Given the description of an element on the screen output the (x, y) to click on. 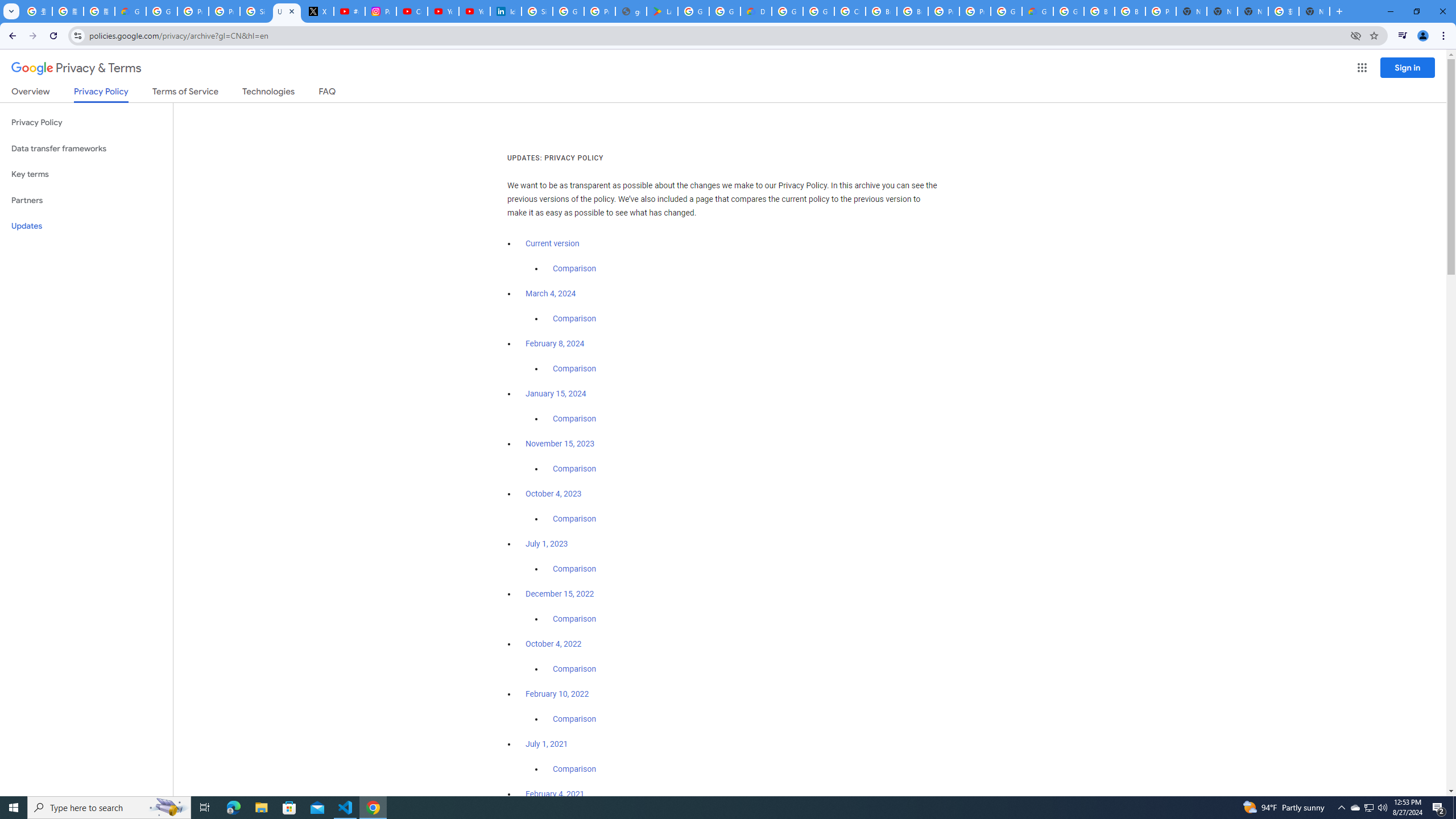
#nbabasketballhighlights - YouTube (349, 11)
Current version (552, 243)
Last Shelter: Survival - Apps on Google Play (662, 11)
February 8, 2024 (555, 343)
March 4, 2024 (550, 293)
October 4, 2023 (553, 493)
July 1, 2021 (546, 743)
